Given the description of an element on the screen output the (x, y) to click on. 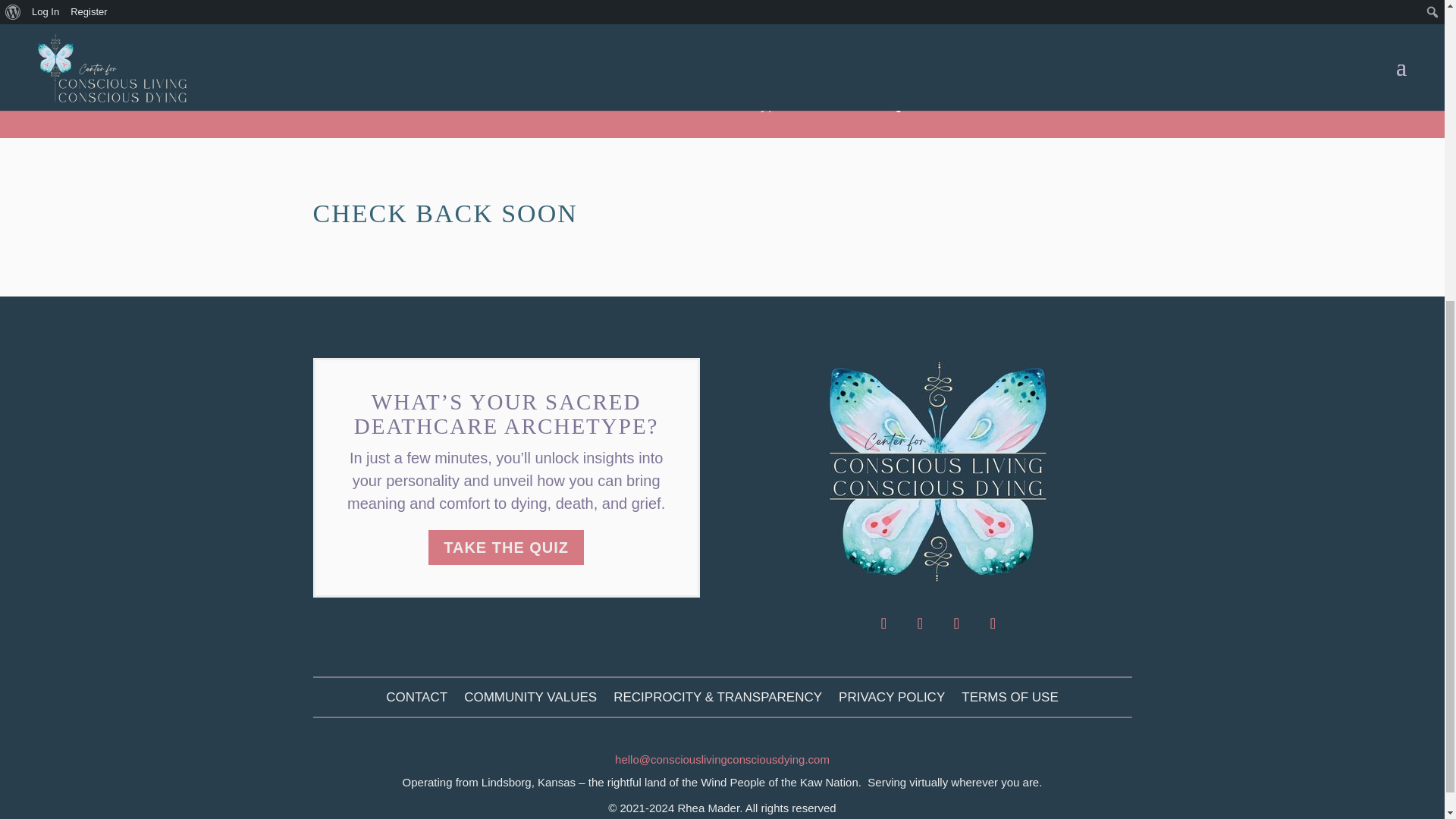
Follow on LinkedIn (955, 623)
COMMUNITY VALUES (530, 700)
PRIVACY POLICY (891, 700)
Follow on Instagram (882, 623)
CONTACT (415, 700)
Take the Quiz (874, 103)
Follow on Pinterest (991, 623)
Follow on Facebook (919, 623)
TERMS OF USE (1009, 700)
TAKE THE QUIZ (505, 547)
